Given the description of an element on the screen output the (x, y) to click on. 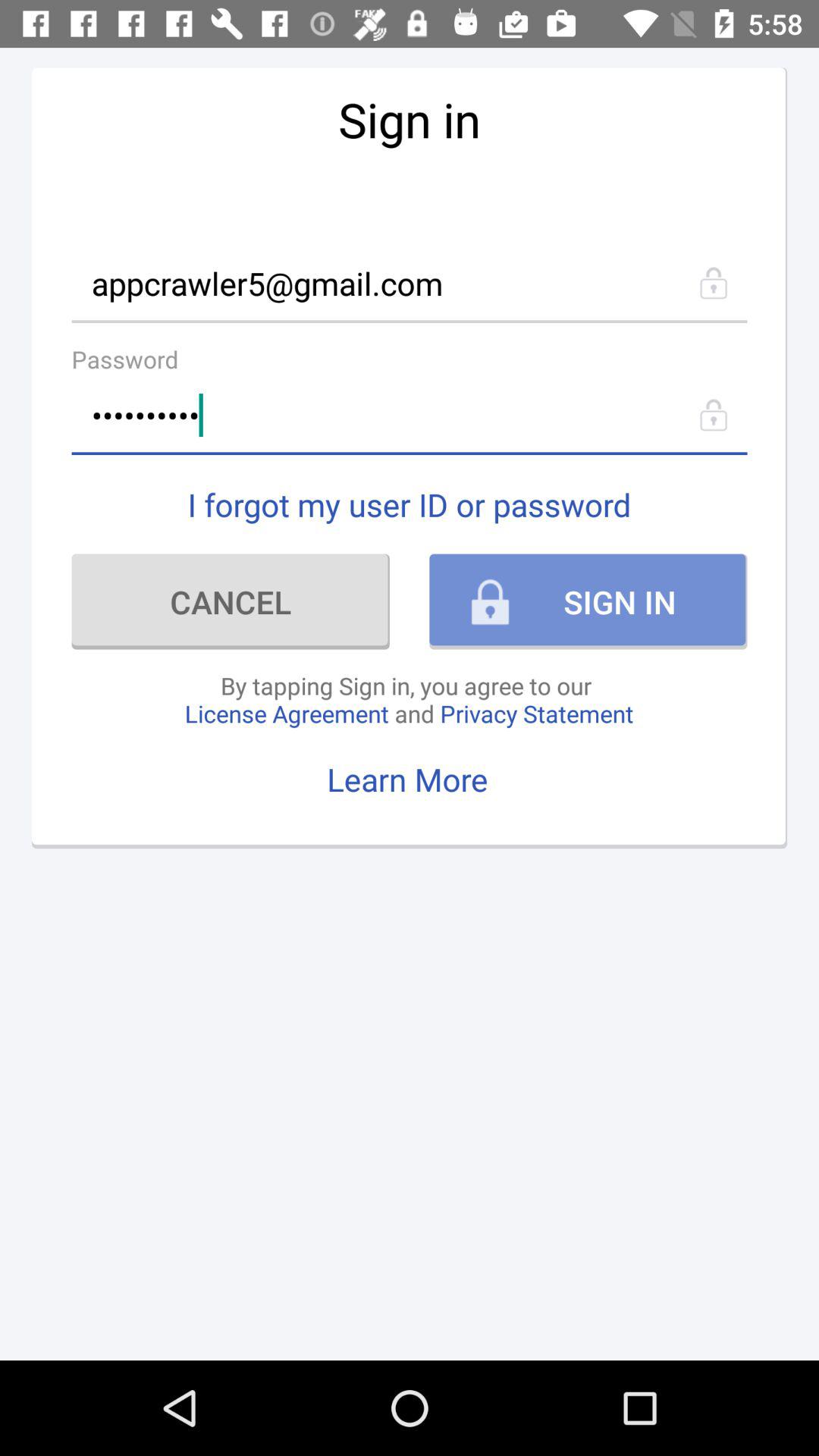
scroll to the appcrawler5@gmail.com item (409, 283)
